Given the description of an element on the screen output the (x, y) to click on. 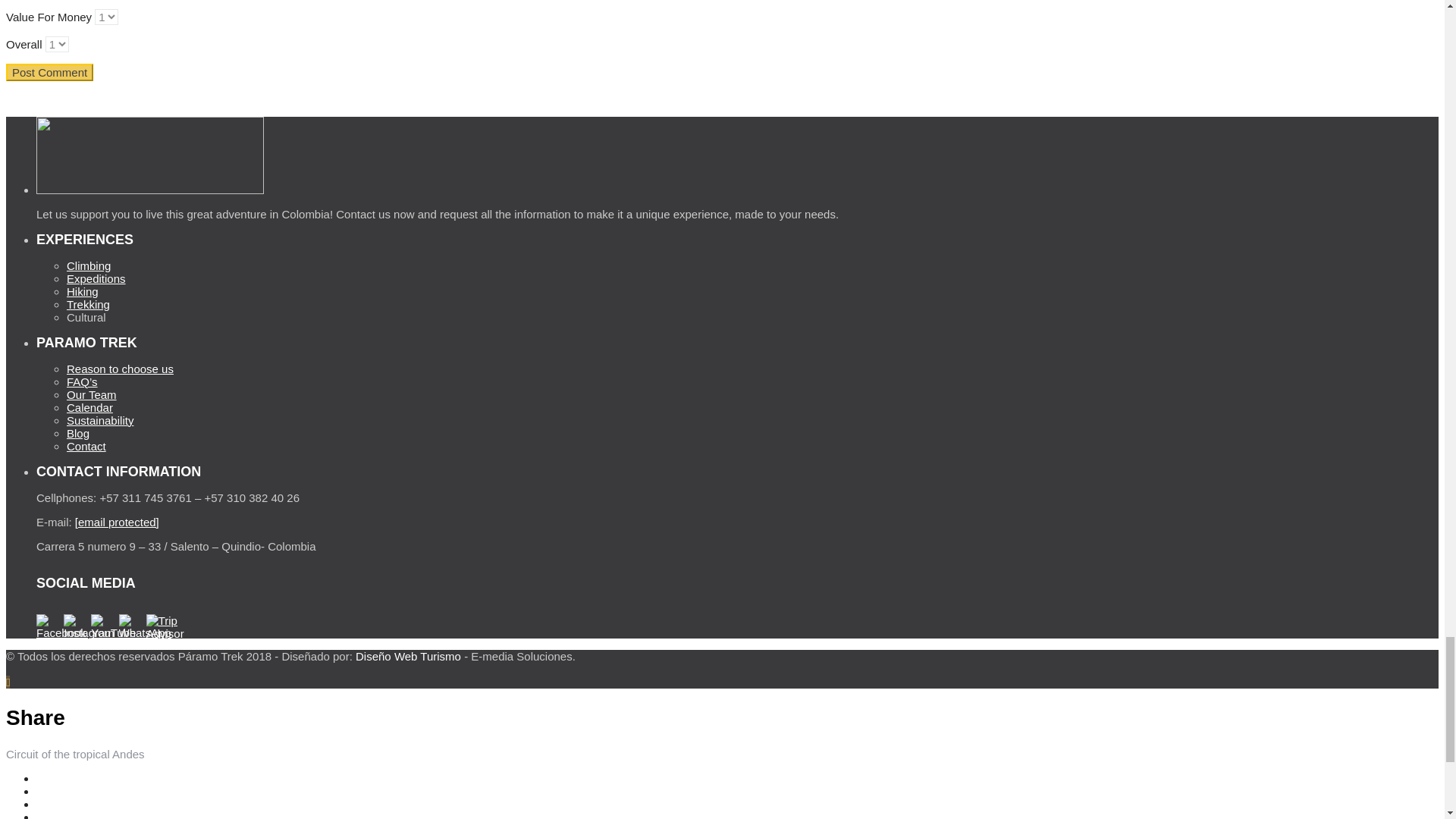
Instagram (75, 626)
Facebook (48, 626)
Trip Advisor (158, 626)
WhatsApp (130, 626)
YouTube (102, 626)
Post Comment (49, 72)
